Given the description of an element on the screen output the (x, y) to click on. 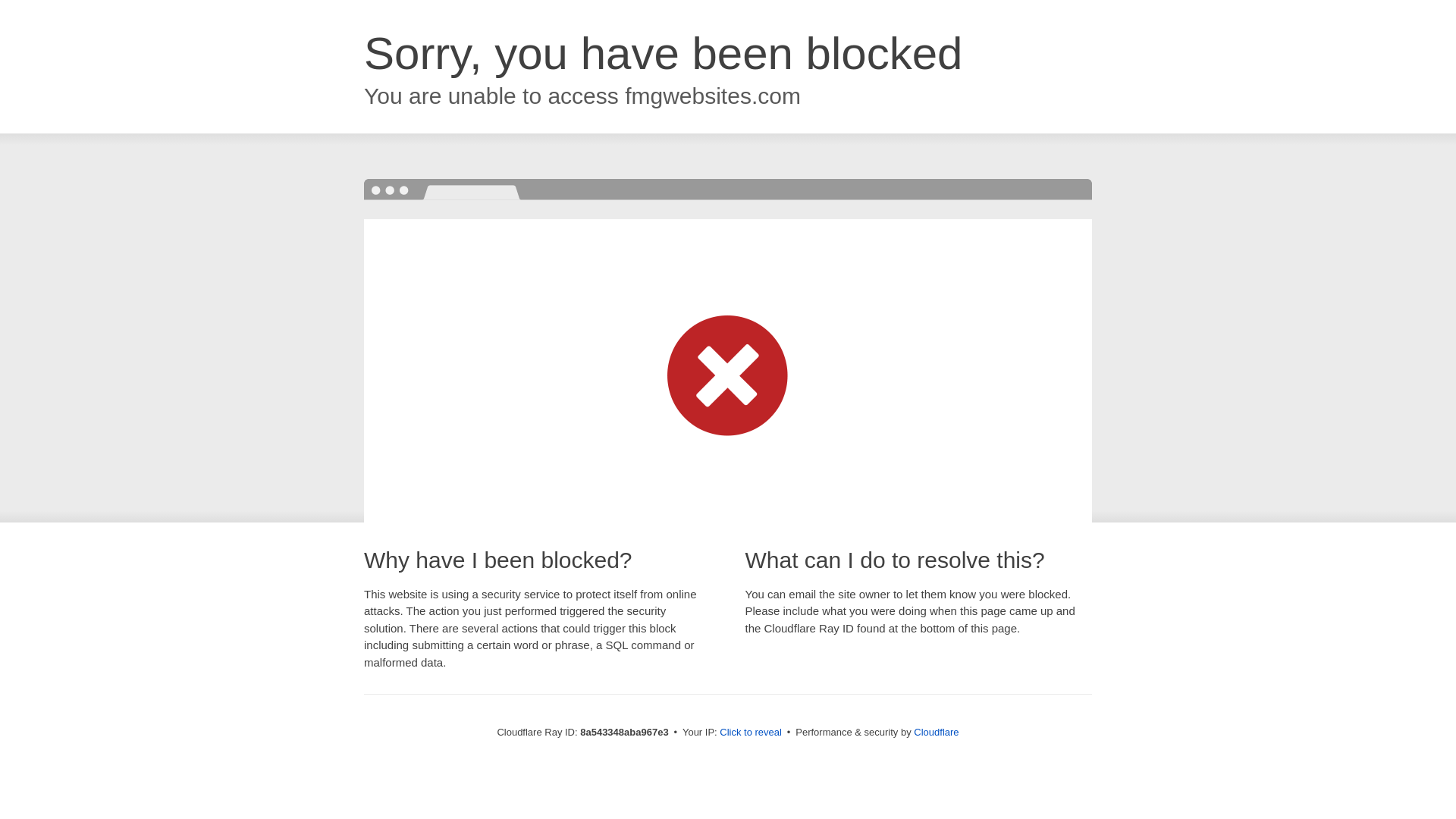
Cloudflare (936, 731)
Click to reveal (750, 732)
